Given the description of an element on the screen output the (x, y) to click on. 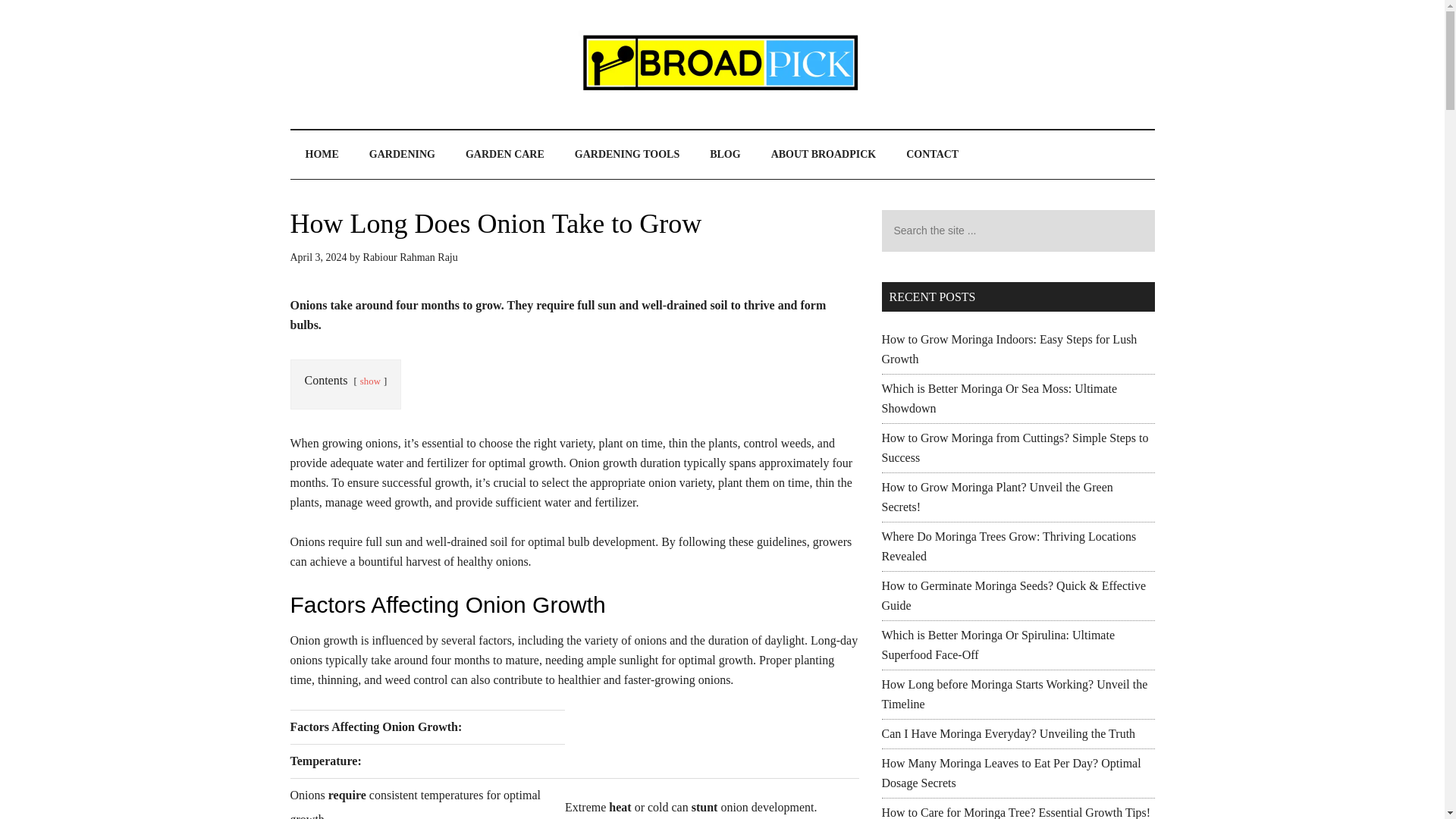
ABOUT BROADPICK (823, 154)
BLOG (724, 154)
show (369, 380)
GARDENING TOOLS (626, 154)
CONTACT (932, 154)
BroadPick (721, 64)
GARDENING (401, 154)
